Given the description of an element on the screen output the (x, y) to click on. 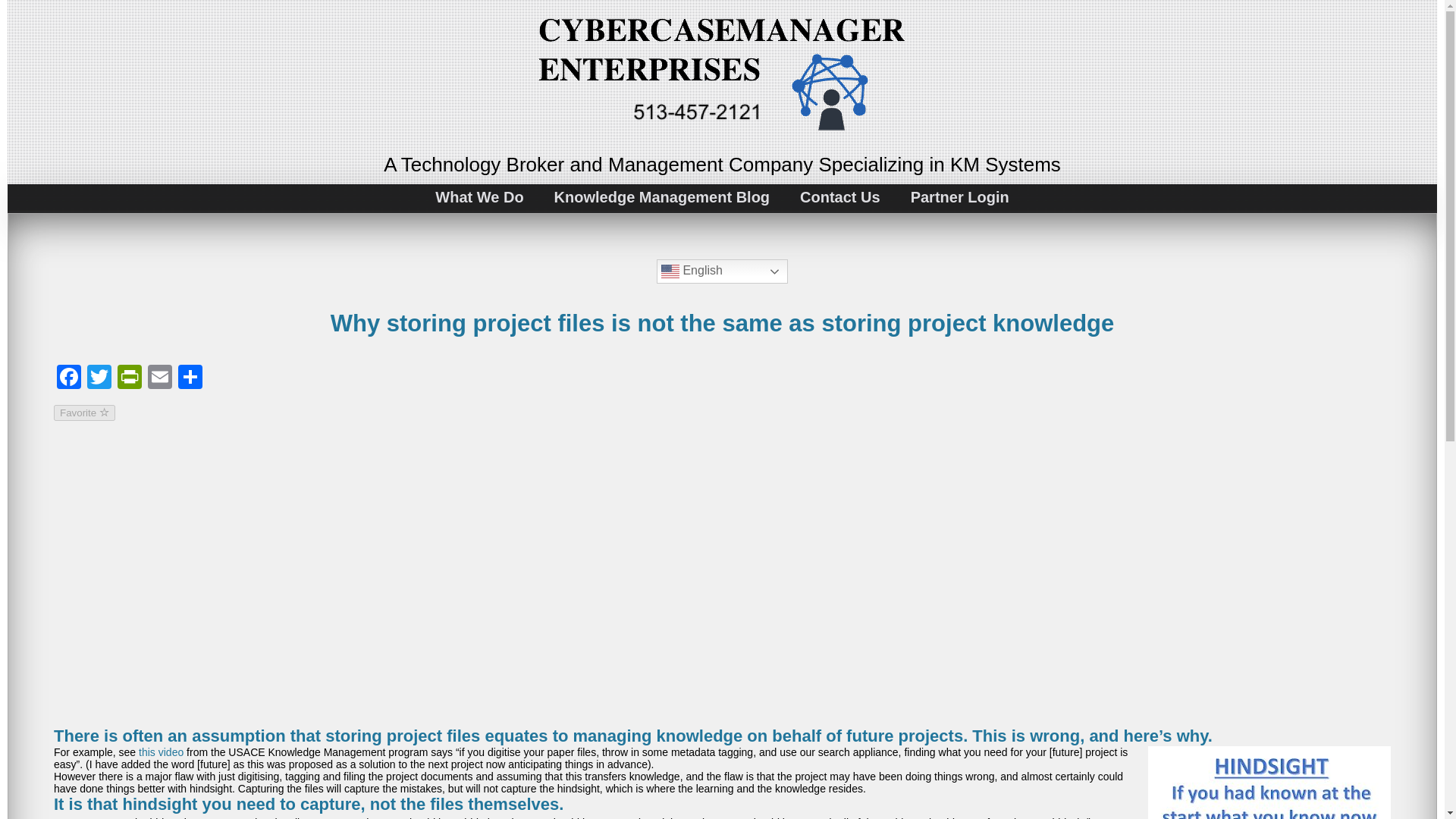
Facebook (68, 378)
PrintFriendly (129, 378)
What We Do (479, 197)
PrintFriendly (129, 378)
Favorite (84, 412)
Email (159, 378)
Twitter (99, 378)
Knowledge Management Blog (661, 197)
Twitter (99, 378)
Facebook (68, 378)
Share (189, 378)
English (721, 271)
this video (160, 752)
Partner Login (960, 197)
